Given the description of an element on the screen output the (x, y) to click on. 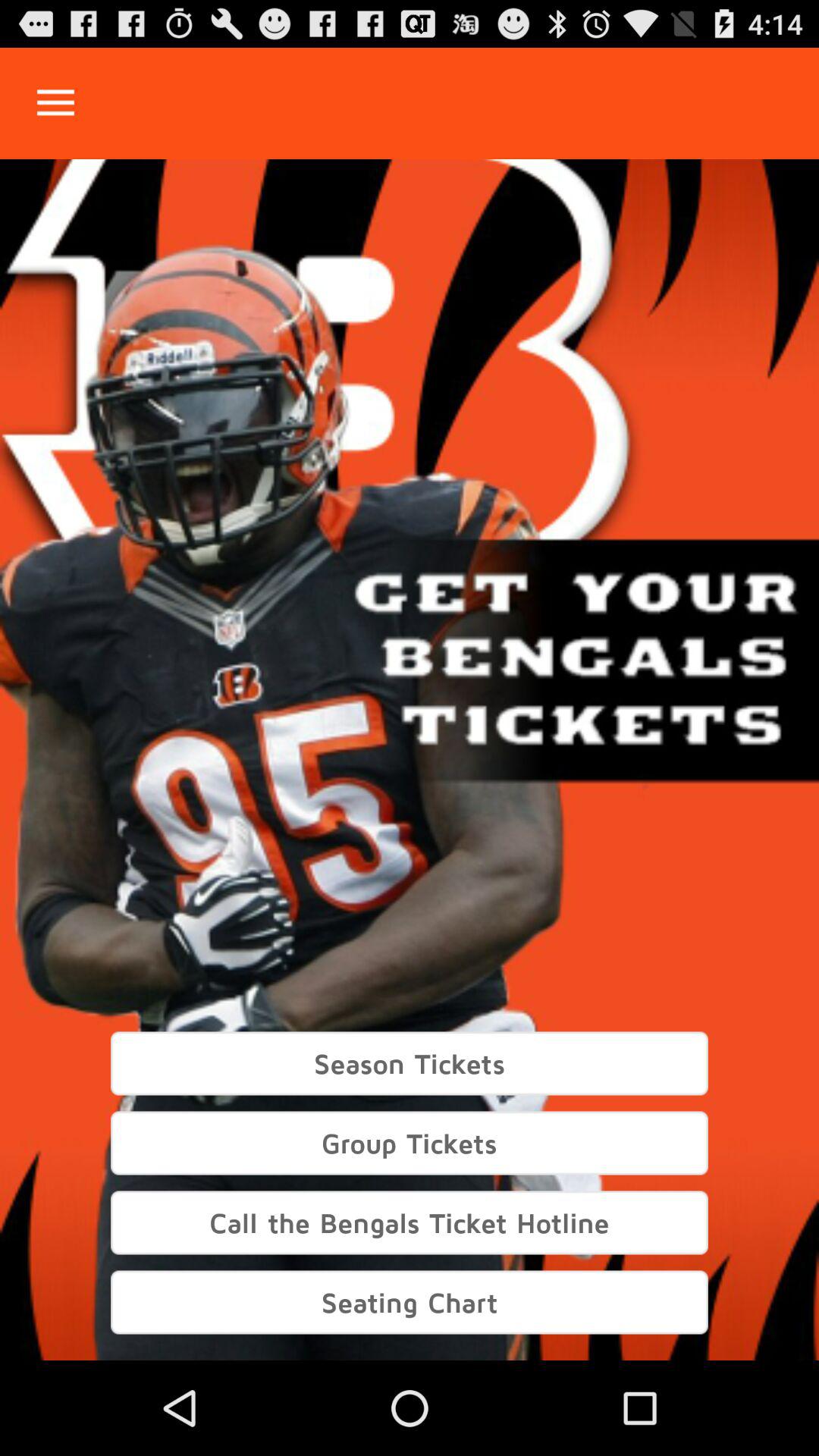
go to setting (55, 103)
